Given the description of an element on the screen output the (x, y) to click on. 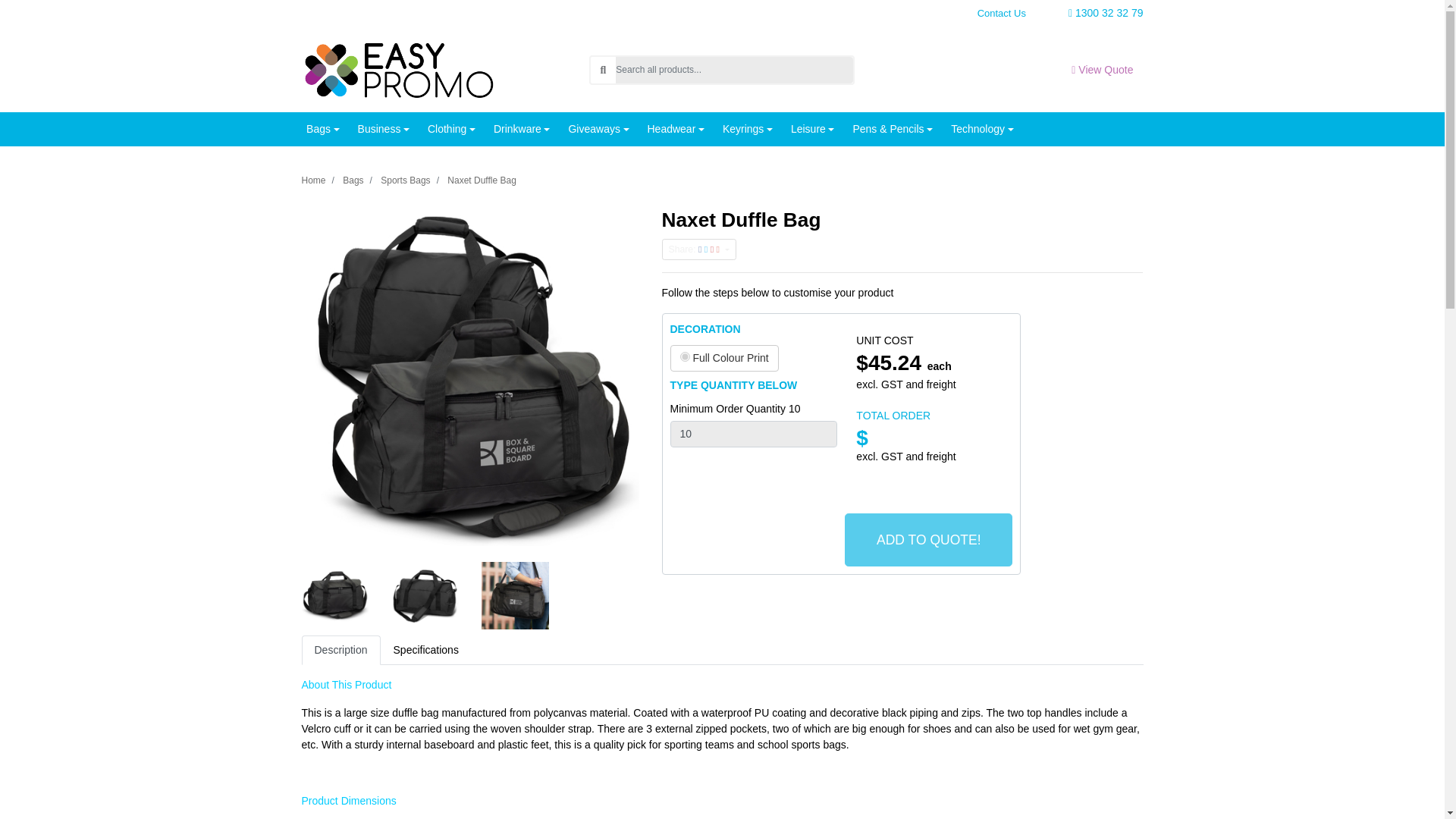
Contact Us (1001, 13)
Clothing (451, 129)
Business (384, 129)
1300 32 32 79 (1087, 12)
Search (602, 69)
25 (683, 356)
10 (753, 433)
Bags (322, 129)
View Quote (1101, 69)
EasyPromo Pty Ltd (398, 69)
